Given the description of an element on the screen output the (x, y) to click on. 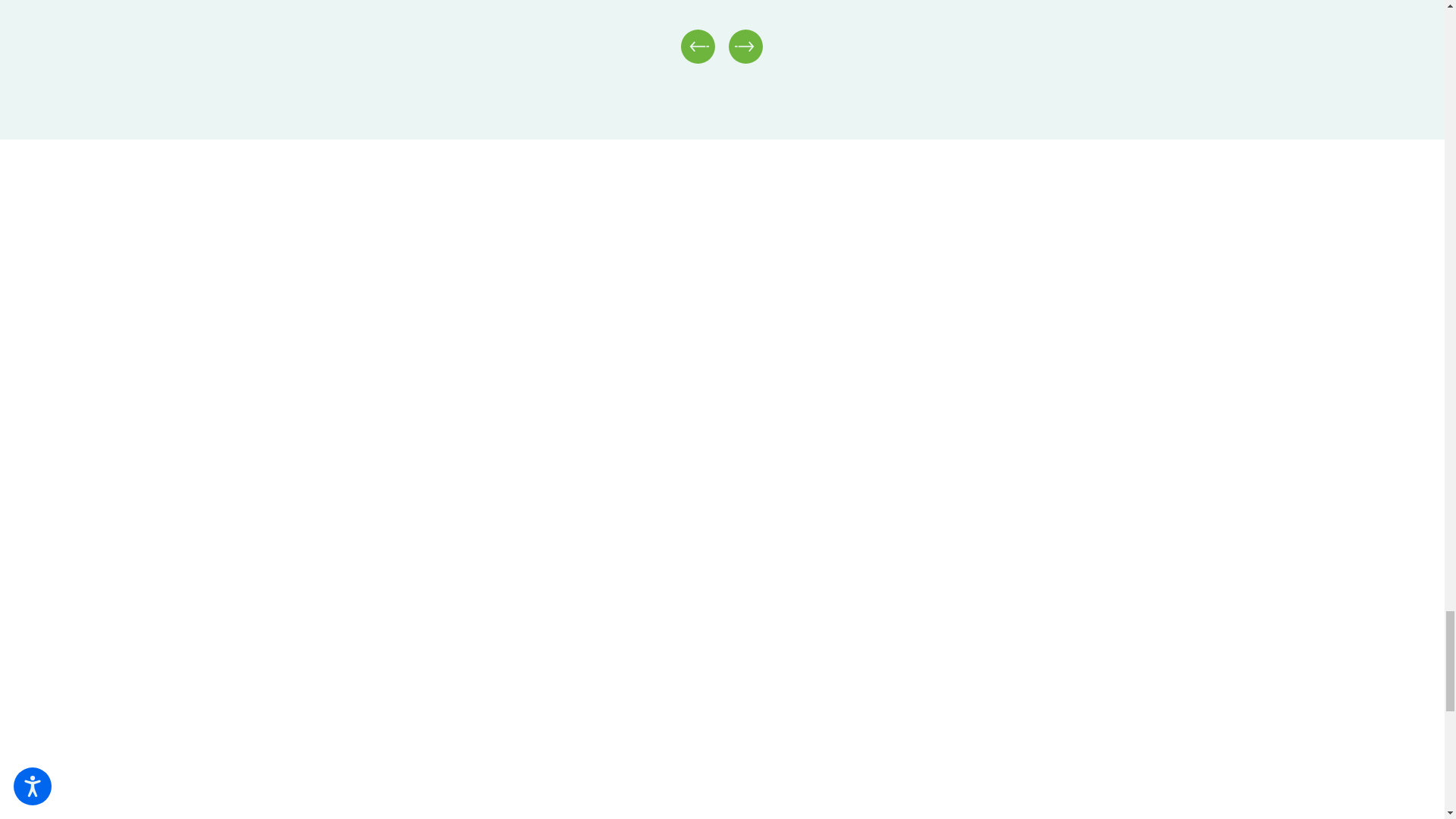
View previous item (697, 45)
View next item (745, 45)
